Given the description of an element on the screen output the (x, y) to click on. 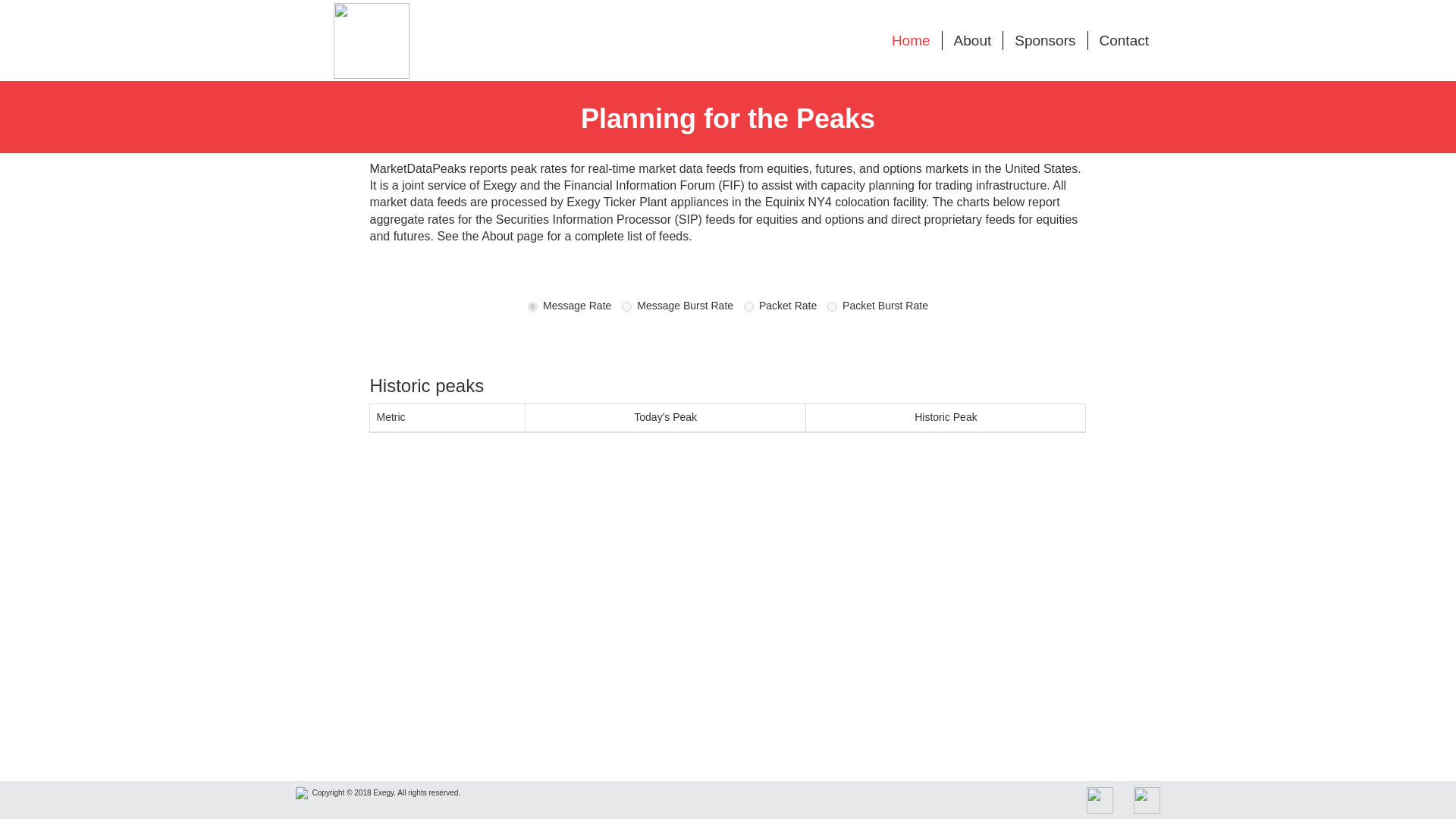
Starting at 2018-06-22 (946, 418)
Contact (1123, 40)
1 ms sample (832, 307)
Home (911, 40)
1 sec sample (780, 305)
About (972, 40)
1 ms sample (677, 305)
1 sec sample (532, 307)
on (749, 307)
1 ms sample (877, 305)
1 sec sample (749, 307)
on (832, 307)
1 sec sample (569, 305)
on (626, 307)
Sponsors (1044, 40)
